Given the description of an element on the screen output the (x, y) to click on. 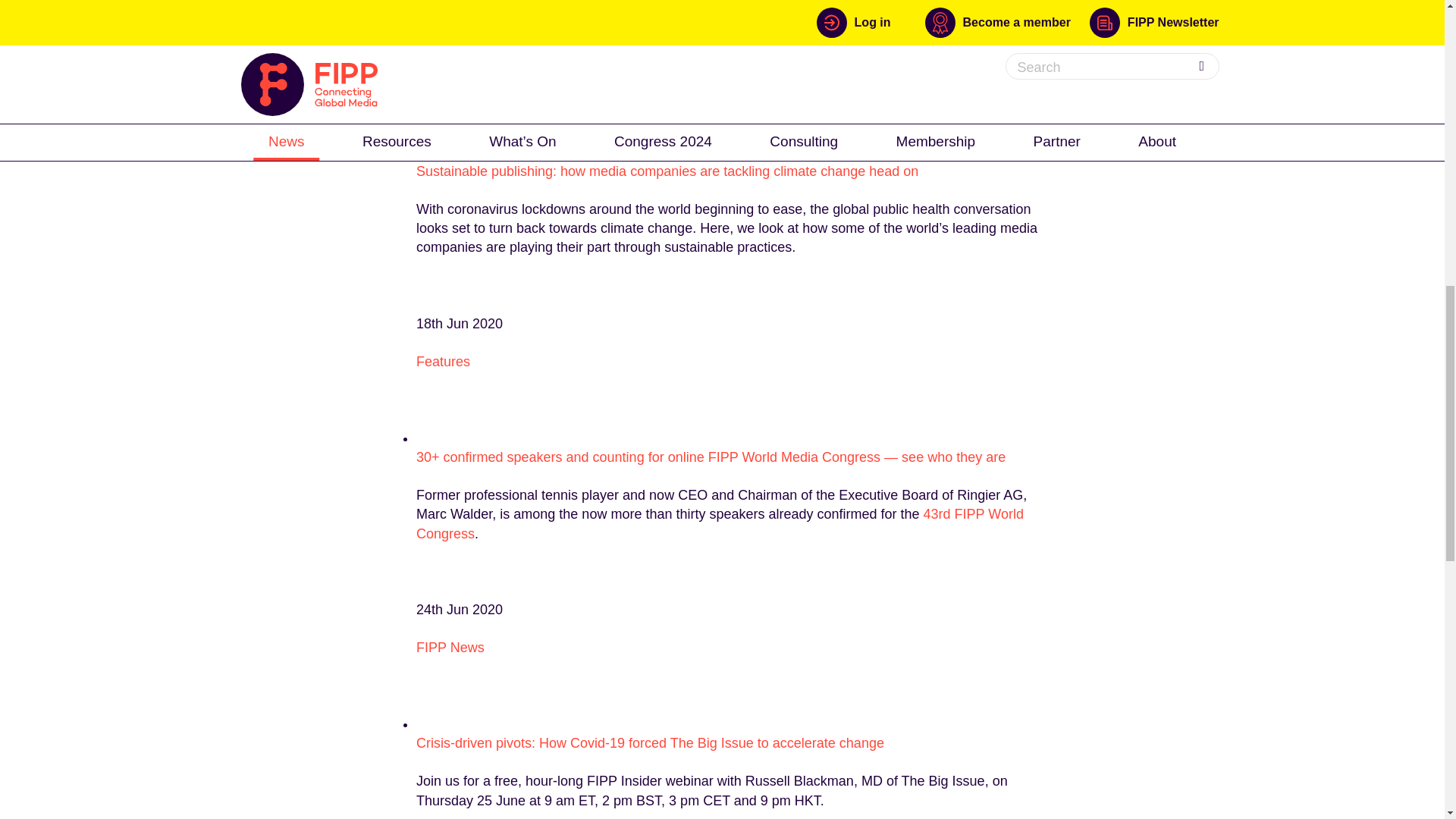
Insight News (455, 75)
FIPP News (450, 647)
Features (443, 361)
43rd FIPP World Congress (719, 523)
